Given the description of an element on the screen output the (x, y) to click on. 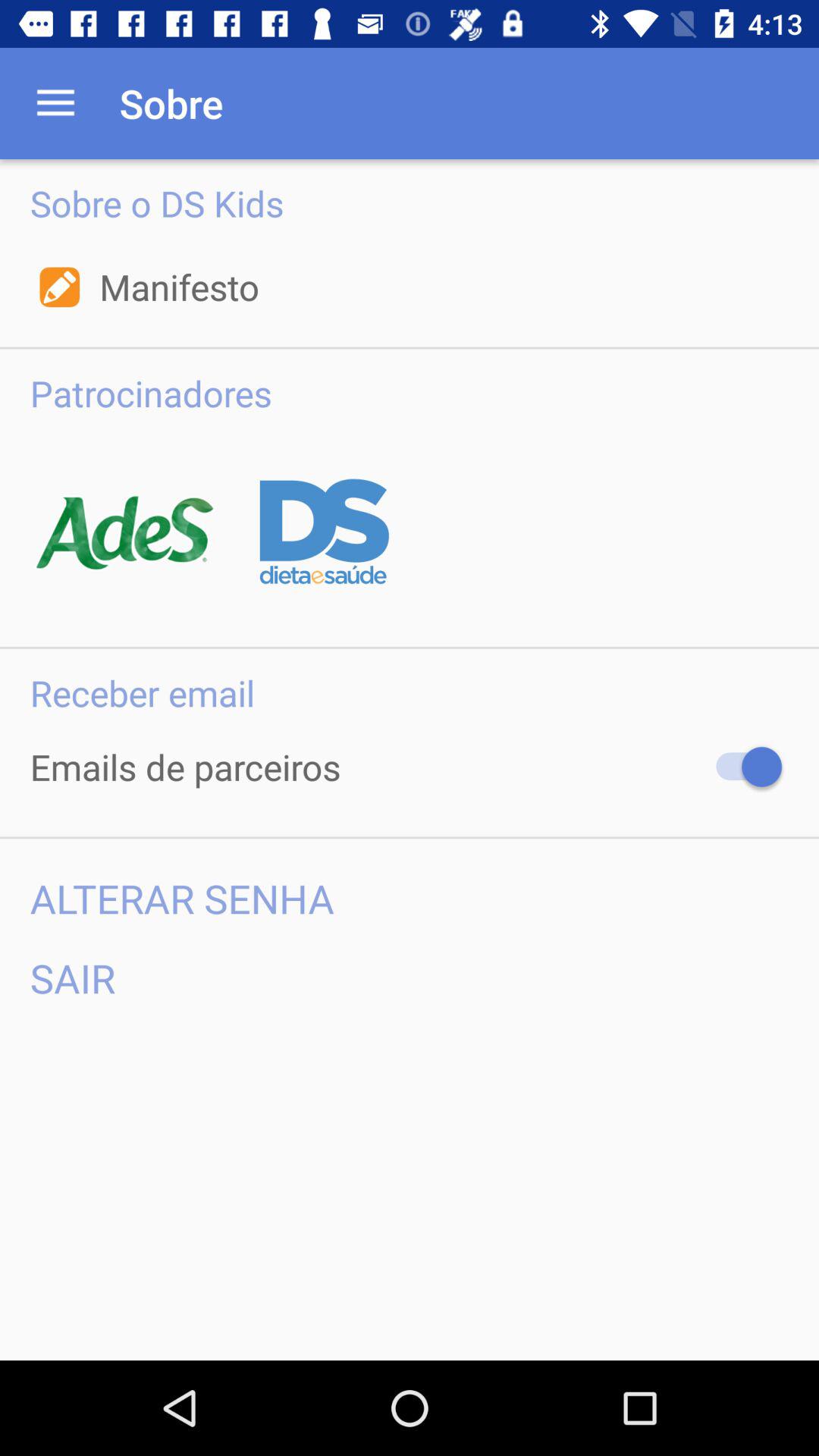
select icon to the left of sobre (55, 103)
